Given the description of an element on the screen output the (x, y) to click on. 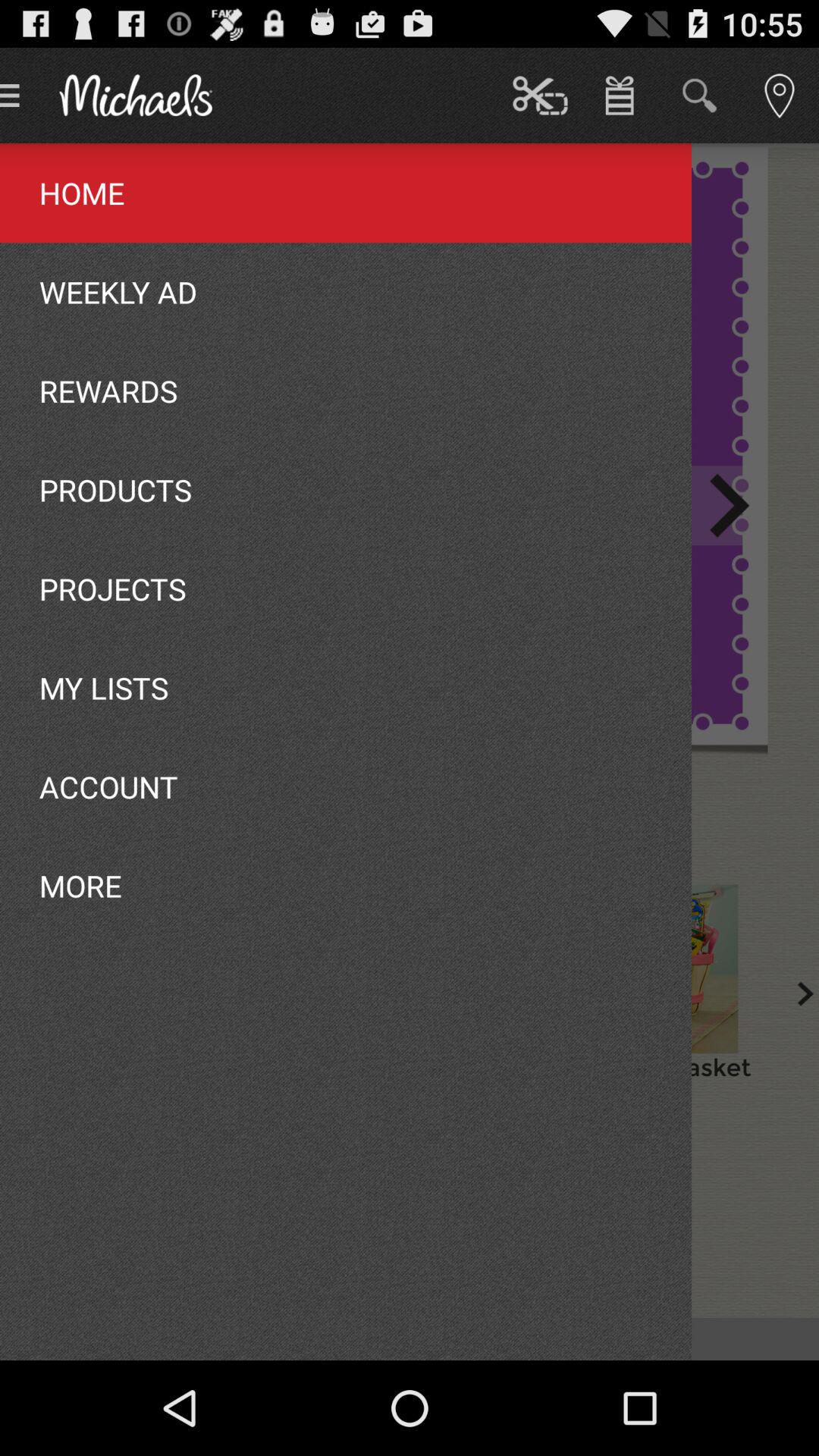
click on the button which is next to the michaels (539, 95)
improper tagging (668, 967)
click on the button above weekly ad (532, 1338)
